Given the description of an element on the screen output the (x, y) to click on. 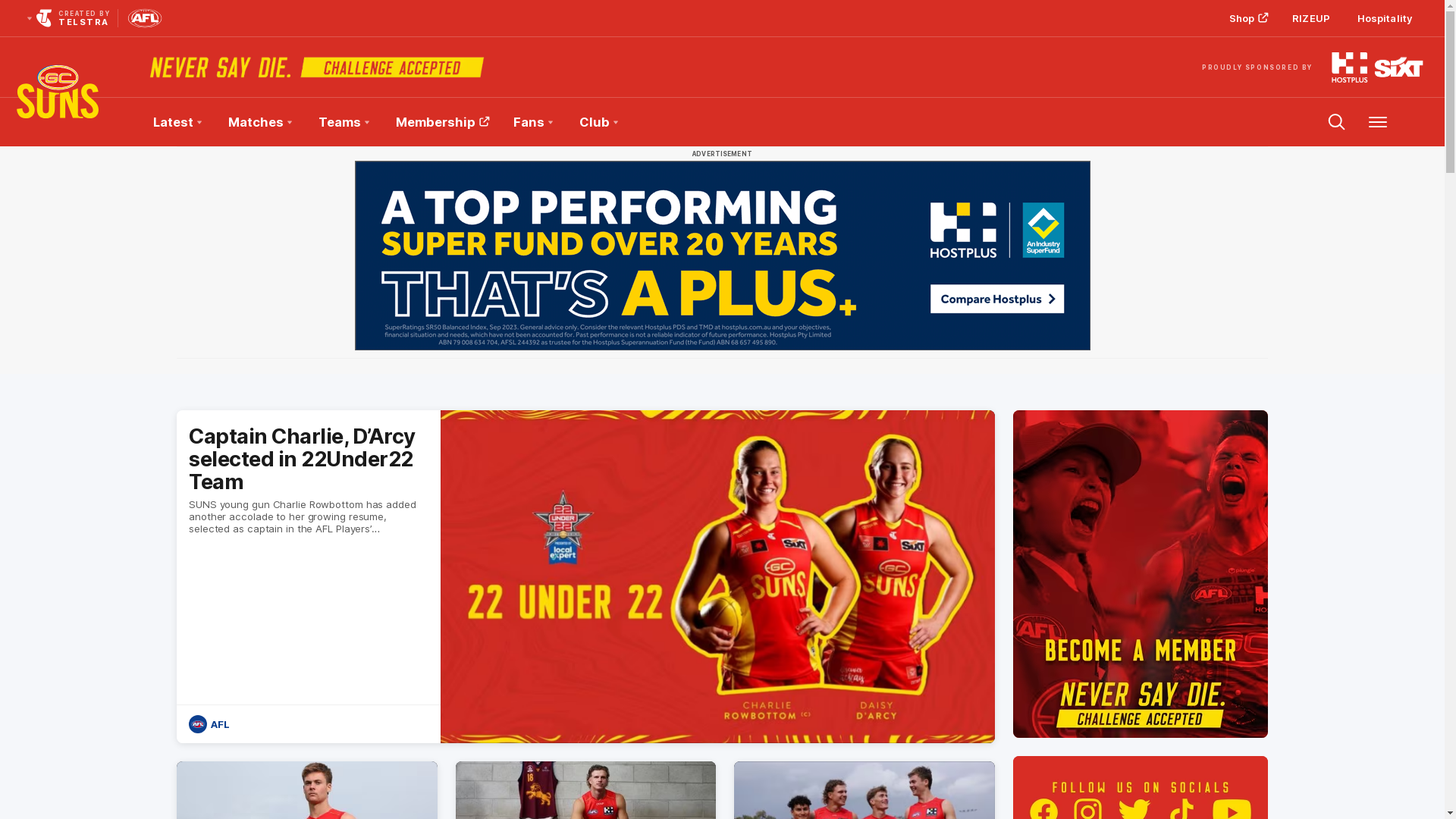
CREATED BY
TELSTRA Element type: text (66, 18)
Membership Element type: text (1140, 573)
Club Element type: text (597, 121)
AFL Element type: text (210, 724)
Fans Element type: text (532, 121)
Matches Element type: text (259, 121)
Shop Element type: text (1246, 18)
Latest Element type: text (176, 121)
RIZEUP Element type: text (1310, 18)
Club Logo Element type: text (57, 121)
Teams Element type: text (343, 121)
Membership Element type: text (440, 121)
Hospitality Element type: text (1384, 18)
3rd party ad content Element type: hover (722, 255)
Menu Element type: text (1377, 121)
